Given the description of an element on the screen output the (x, y) to click on. 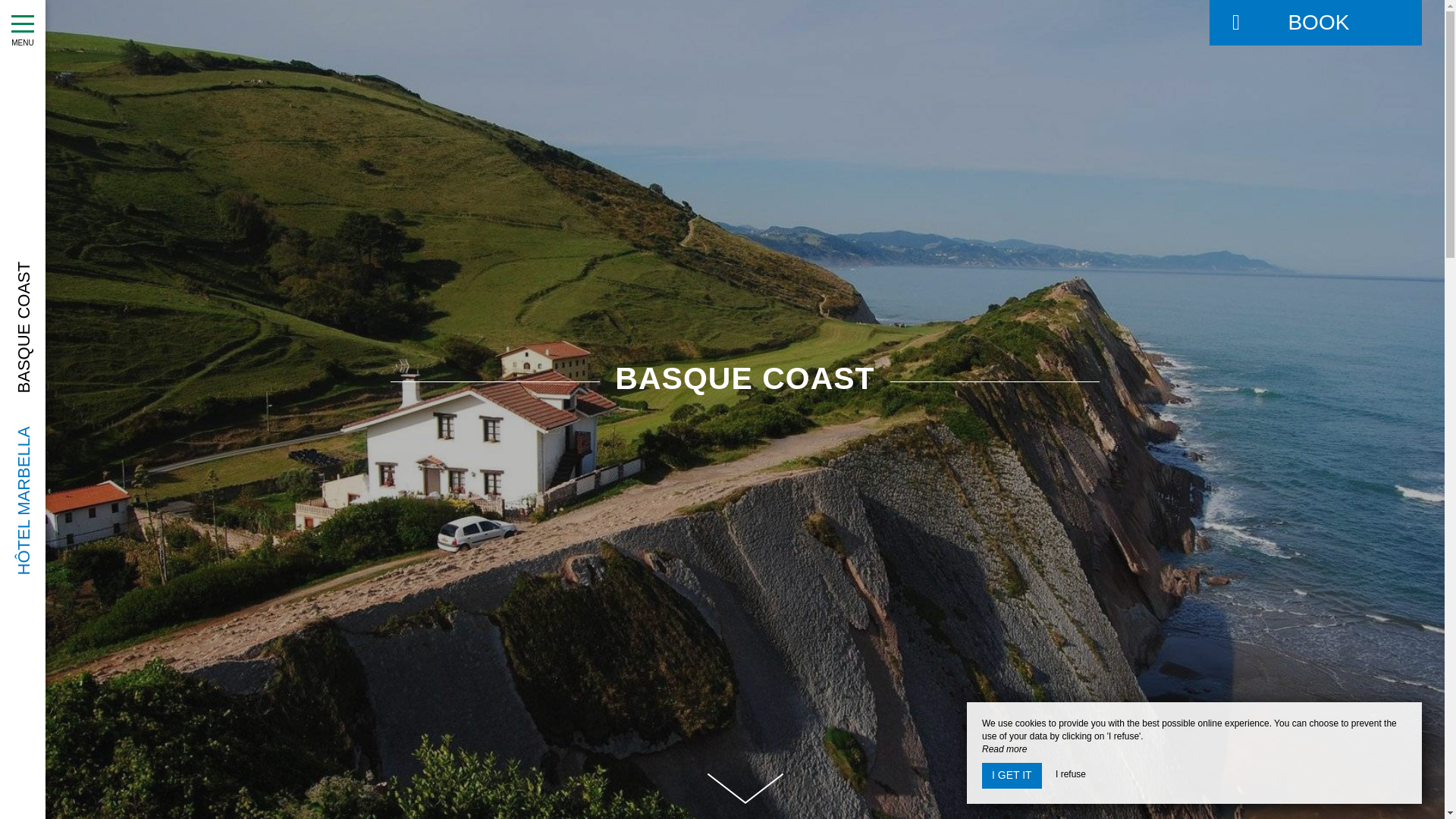
I GET IT (1011, 775)
